Given the description of an element on the screen output the (x, y) to click on. 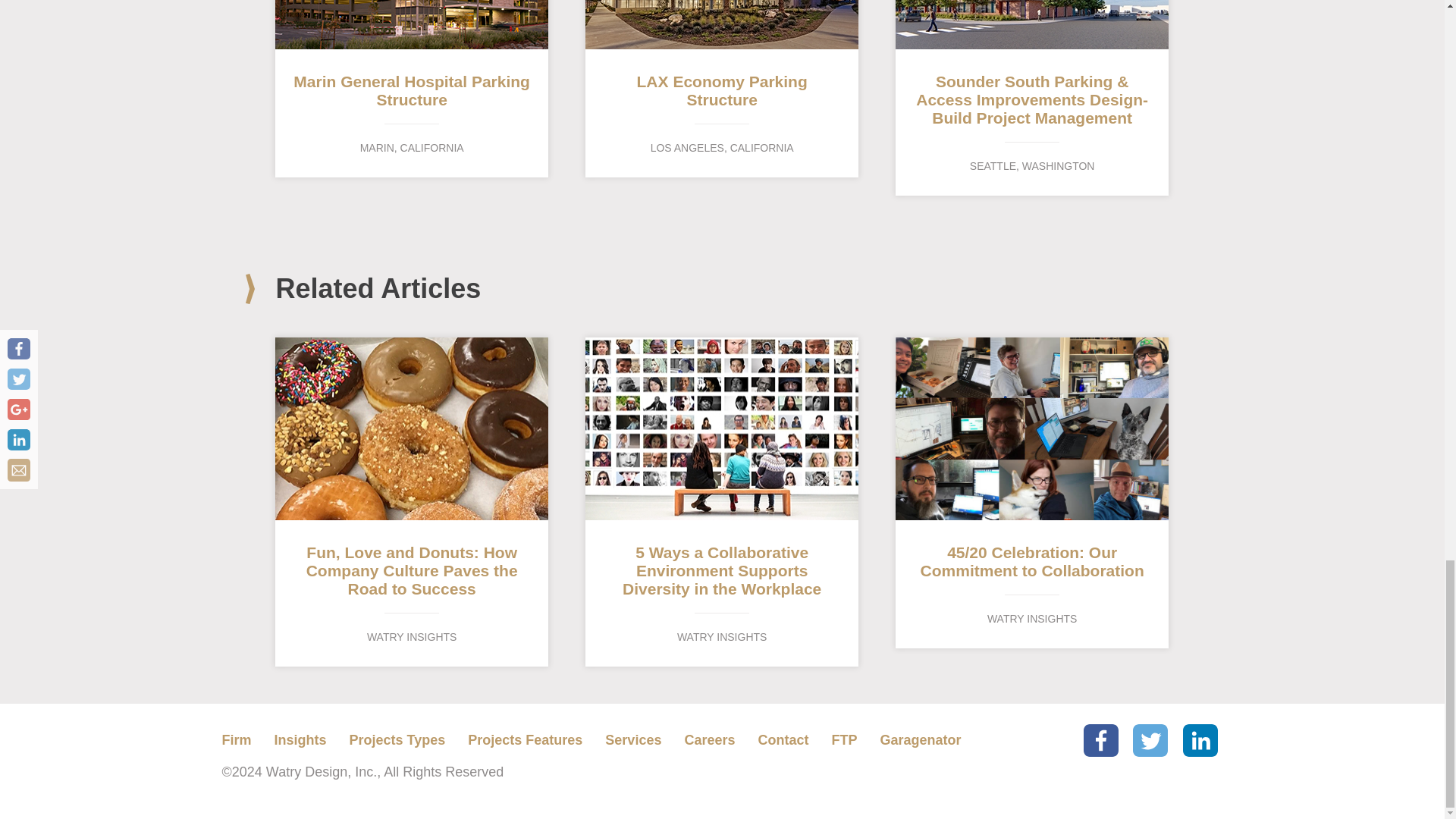
Insights (722, 89)
Garagenator (300, 739)
Projects Features (919, 739)
Services (524, 739)
Projects Types (633, 739)
Contact (397, 739)
FTP (782, 739)
Careers (844, 739)
Firm (709, 739)
